Given the description of an element on the screen output the (x, y) to click on. 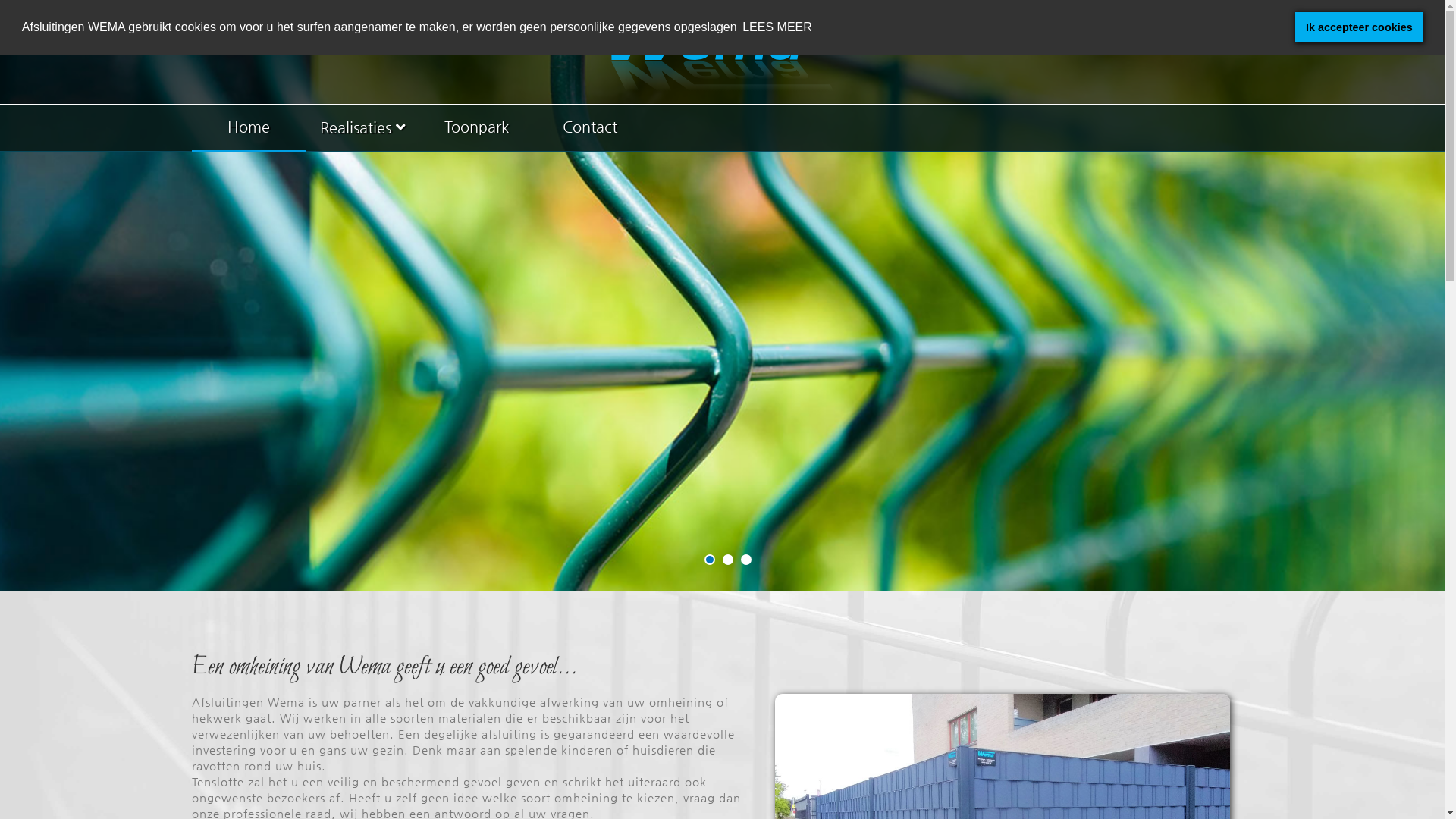
Contact Element type: text (589, 127)
Ik accepteer cookies Element type: text (1358, 27)
Home Element type: text (248, 127)
LEES MEER Element type: text (777, 26)
Toonpark Element type: text (476, 127)
Realisaties Element type: text (362, 128)
